Given the description of an element on the screen output the (x, y) to click on. 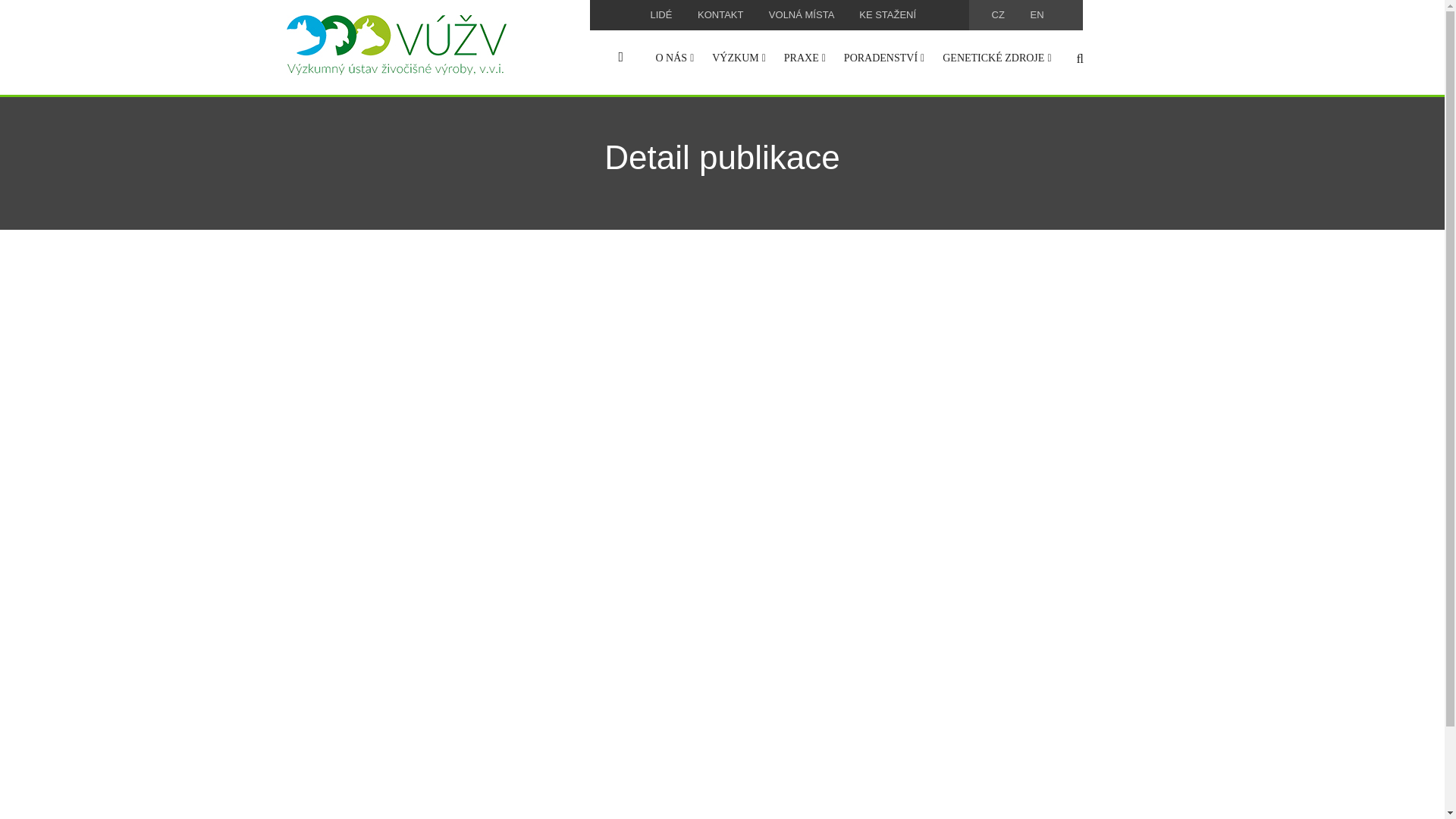
CZ (997, 14)
EN (1036, 14)
KONTAKT (719, 14)
